Given the description of an element on the screen output the (x, y) to click on. 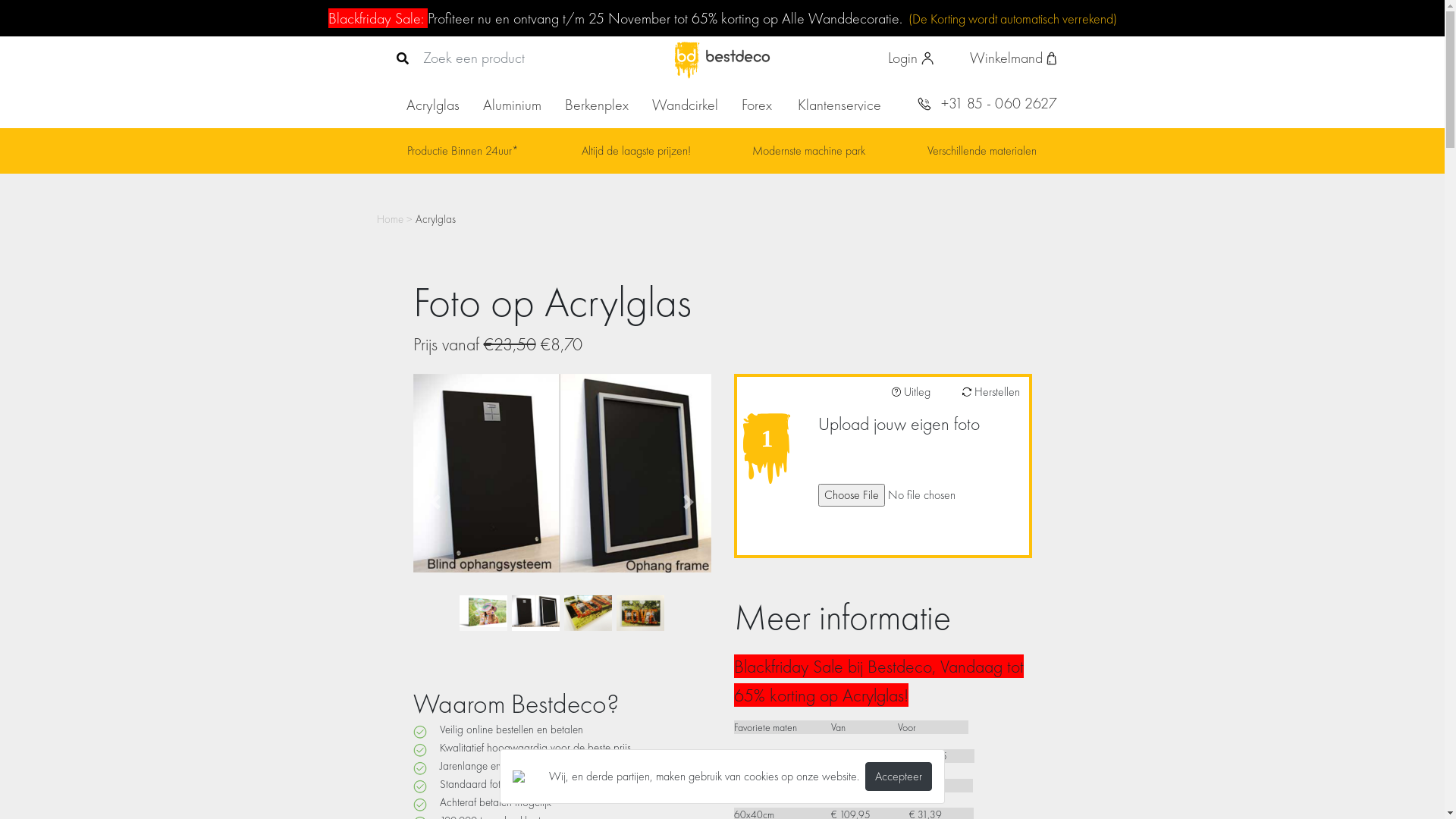
phone (1) +31 85 - 060 2627 Element type: text (987, 103)
Productie Binnen 24uur* Element type: text (462, 150)
Next Element type: text (688, 501)
Wandcirkel Element type: text (685, 104)
Winkelmand bag Element type: text (1012, 58)
Modernste machine park Element type: text (808, 150)
Berkenplex Element type: text (595, 104)
Klantenservice Element type: text (839, 104)
Acrylglas Element type: text (435, 218)
Previous Element type: text (434, 501)
refresh Herstellen Element type: text (986, 391)
Forex Element type: text (756, 104)
Accepteer Element type: text (898, 774)
Verschillende materialen Element type: text (980, 150)
Altijd de laagste prijzen! Element type: text (635, 150)
Acrylglas Element type: text (432, 104)
Login user Element type: text (910, 58)
Accepteer Element type: text (898, 776)
Aluminium Element type: text (511, 104)
Home Element type: text (390, 218)
